Given the description of an element on the screen output the (x, y) to click on. 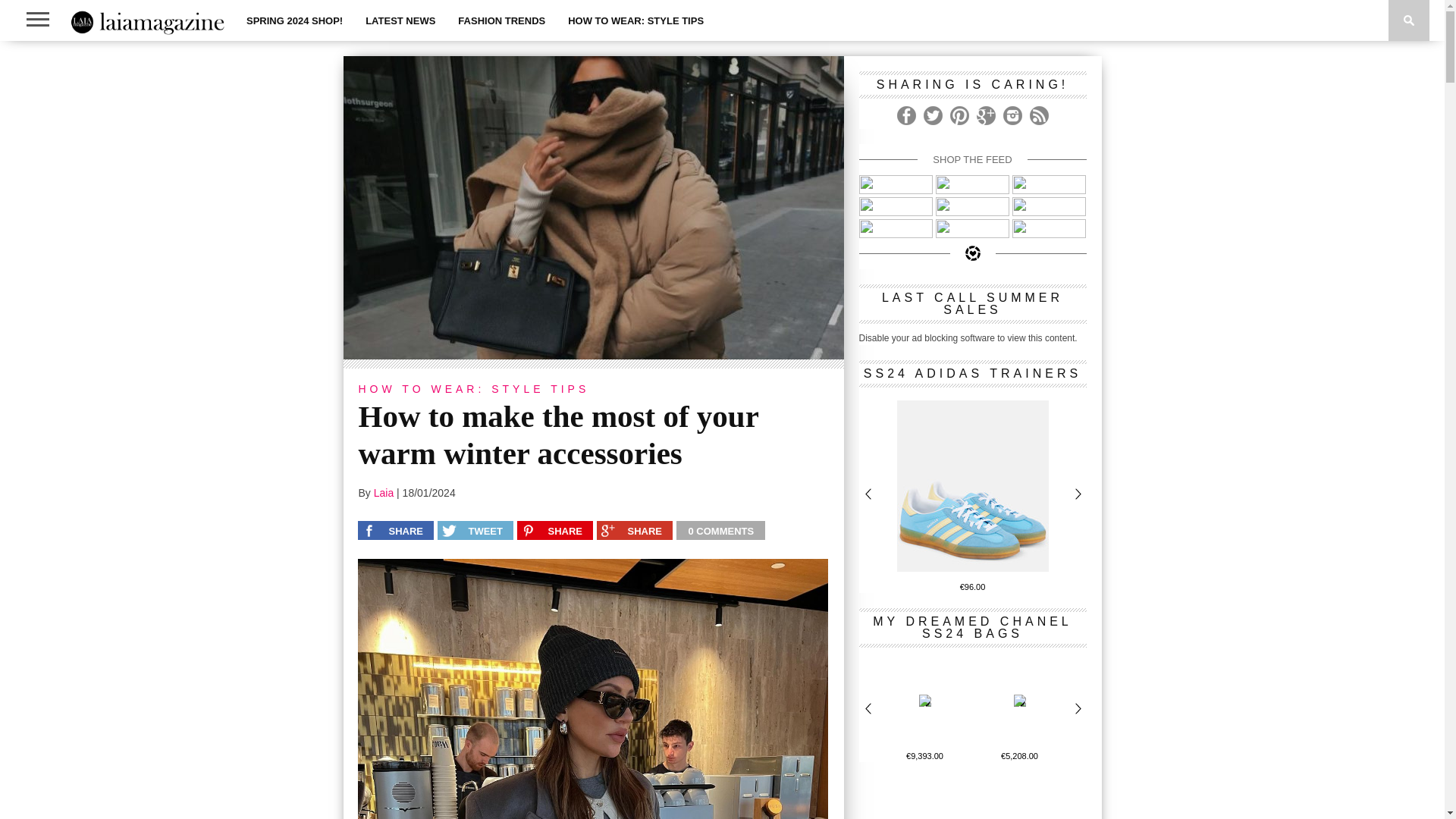
LATEST NEWS (399, 20)
Entradas de Laia (383, 492)
FASHION TRENDS (501, 20)
Laia (383, 492)
HOW TO WEAR: STYLE TIPS (635, 20)
SPRING 2024 SHOP! (293, 20)
